Given the description of an element on the screen output the (x, y) to click on. 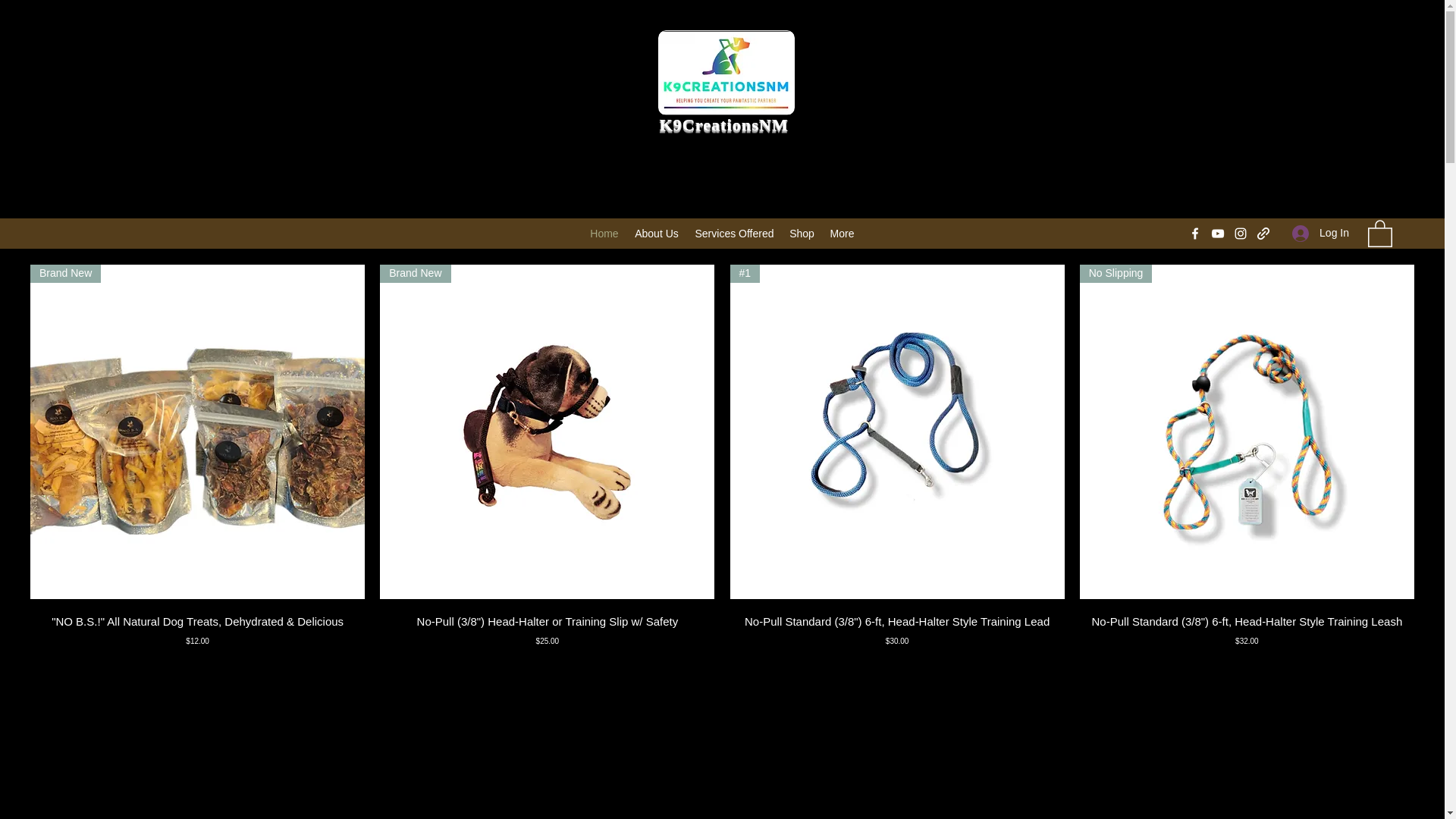
Brand New (197, 431)
Shop (801, 232)
No Slipping (1246, 431)
Services Offered (734, 232)
Home (604, 232)
Log In (1320, 233)
K9CreationsNM (723, 124)
About Us (656, 232)
Brand New (547, 431)
